Given the description of an element on the screen output the (x, y) to click on. 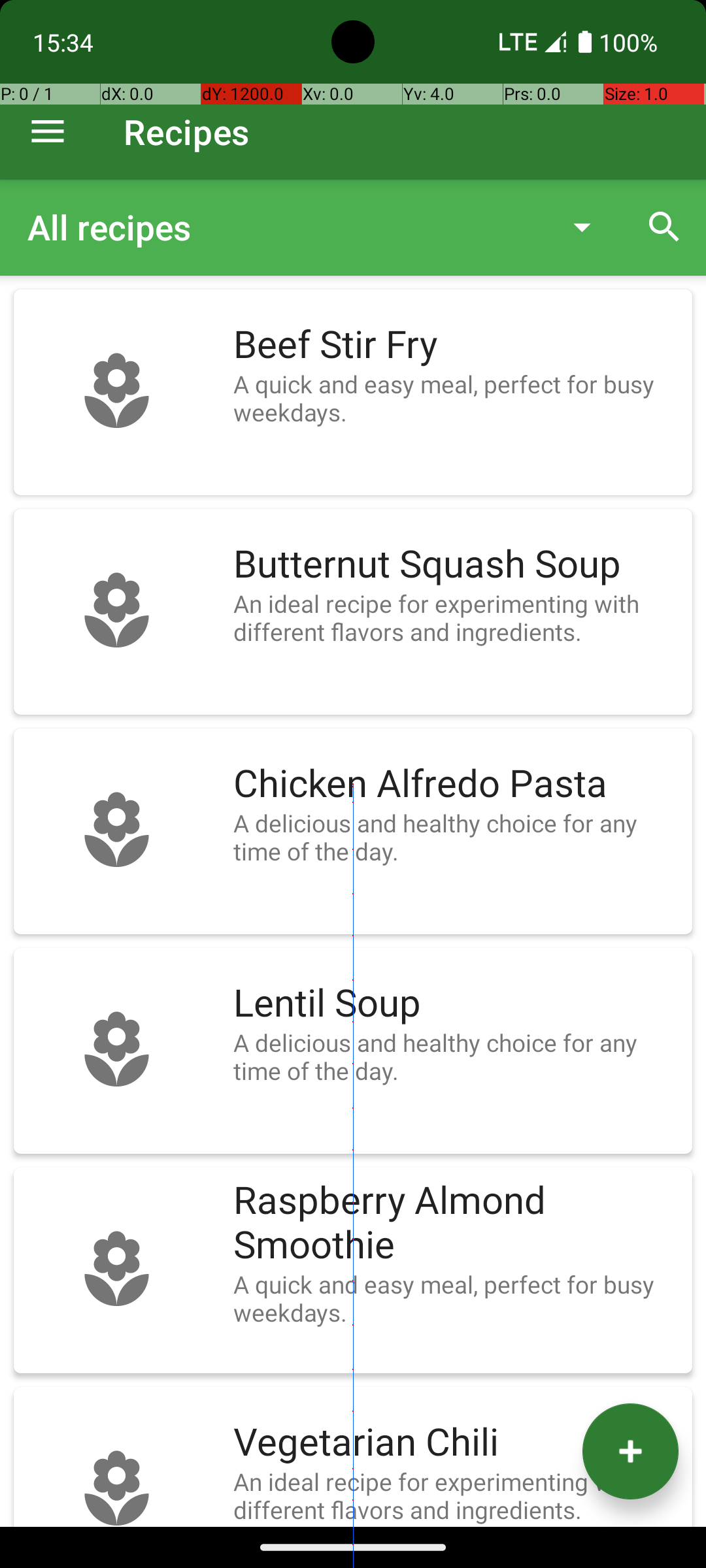
Raspberry Almond Smoothie Element type: android.widget.TextView (455, 1222)
Vegetarian Chili Element type: android.widget.TextView (455, 1442)
